Given the description of an element on the screen output the (x, y) to click on. 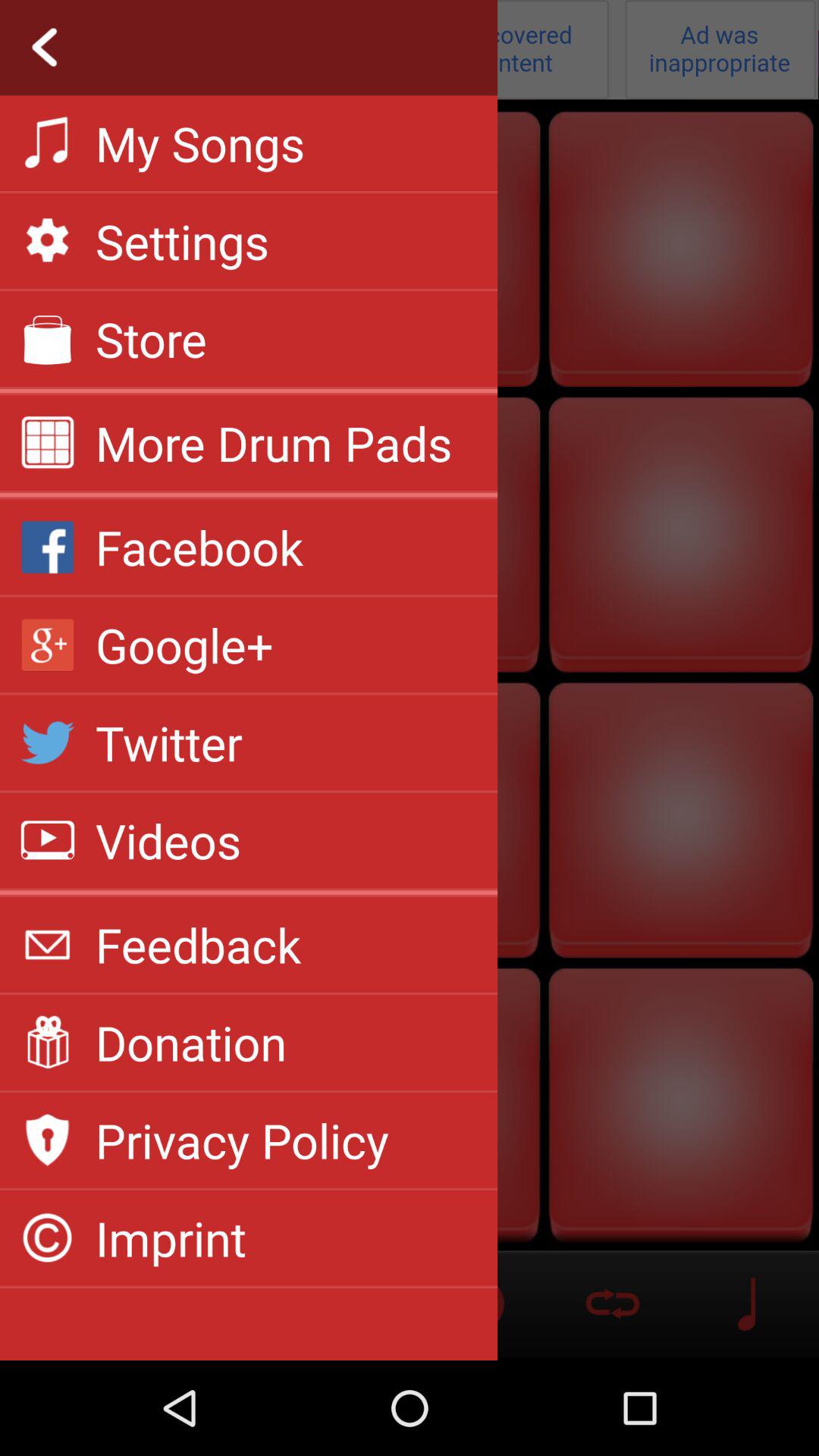
scroll to settings (182, 241)
